Given the description of an element on the screen output the (x, y) to click on. 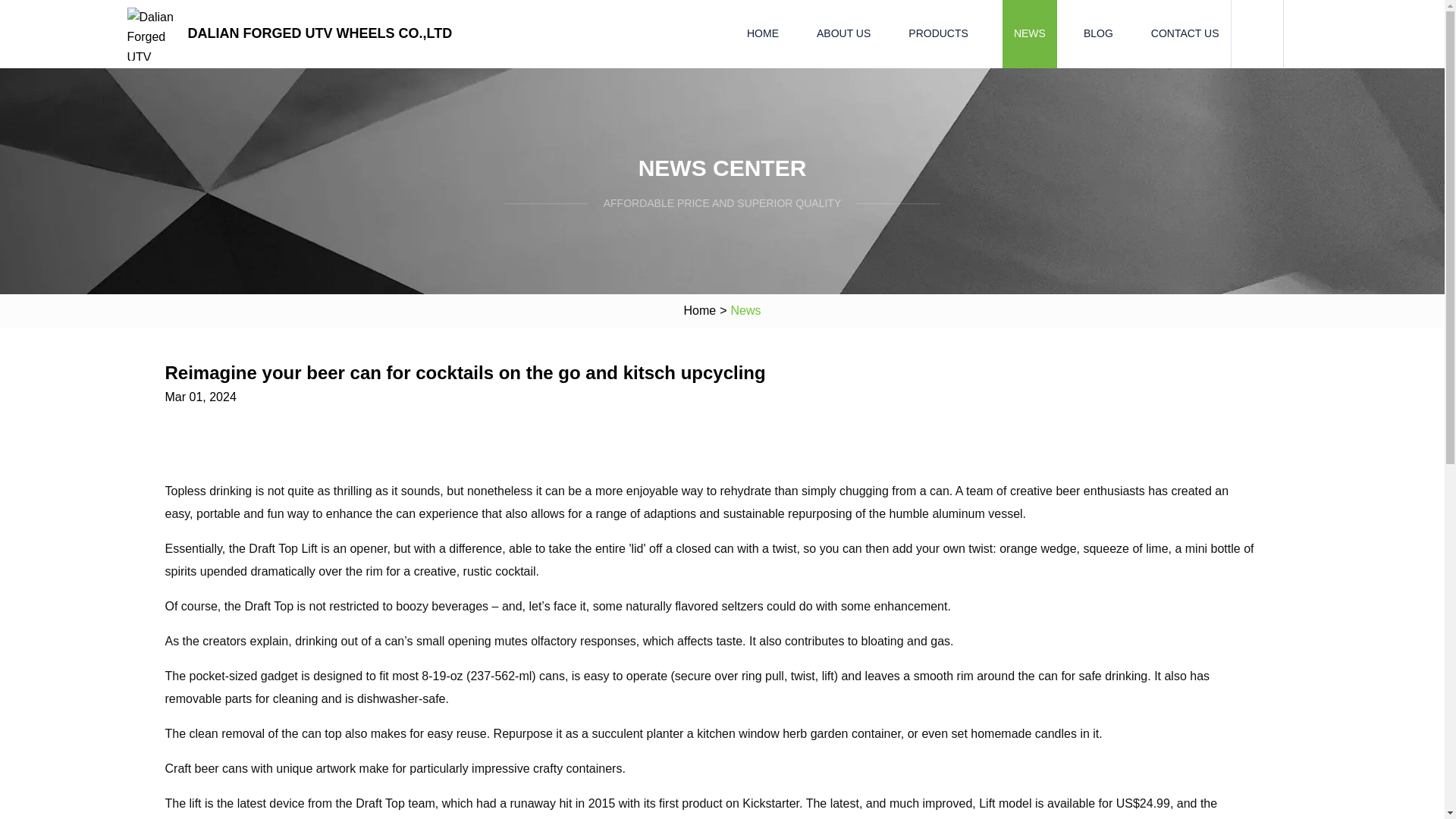
Language (1306, 33)
ABOUT US (843, 33)
Dalian Forged UTV Wheels Co.,Ltd (294, 33)
PRODUCTS (937, 33)
Home (699, 311)
DALIAN FORGED UTV WHEELS CO.,LTD (294, 33)
CONTACT US (1185, 33)
